Given the description of an element on the screen output the (x, y) to click on. 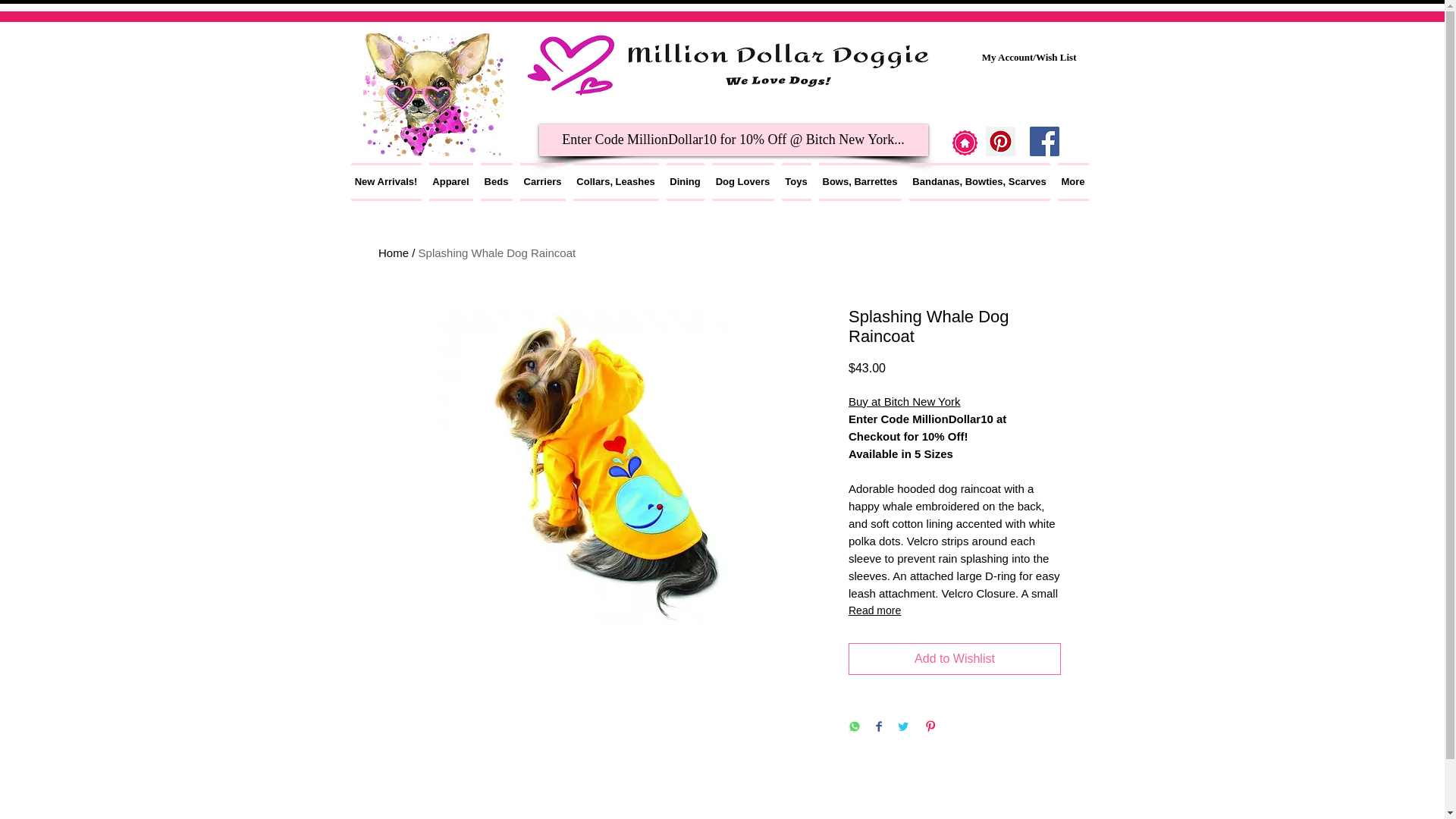
Site Search (732, 108)
New Arrivals! (387, 181)
We Love Dogs!! (432, 94)
